Given the description of an element on the screen output the (x, y) to click on. 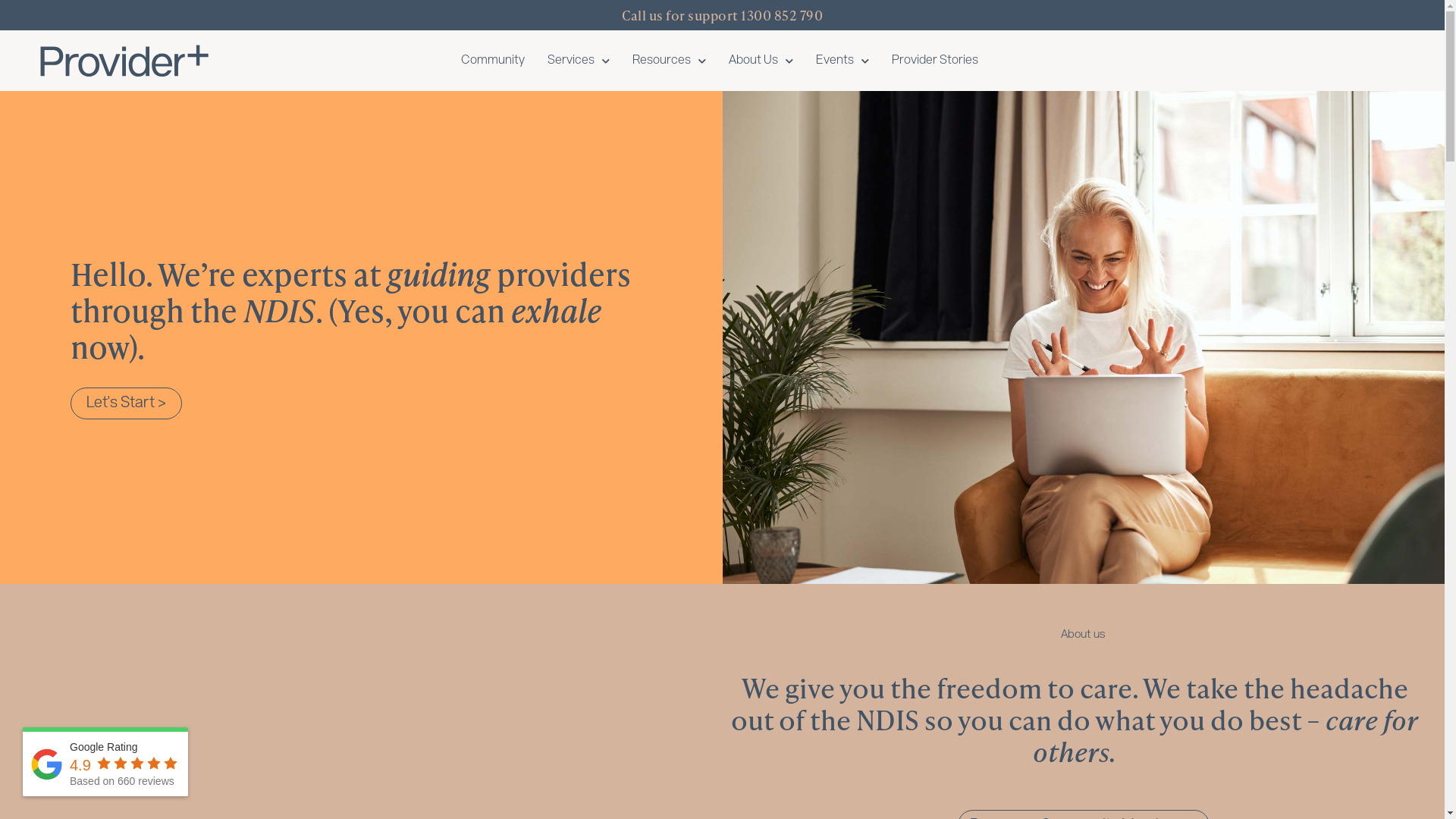
Events Element type: text (842, 60)
Services Element type: text (578, 60)
Community Element type: text (492, 60)
Provider Stories Element type: text (934, 60)
Call us for support 1300 852 790 Element type: text (721, 15)
About Us Element type: text (760, 60)
Resources Element type: text (669, 60)
